Given the description of an element on the screen output the (x, y) to click on. 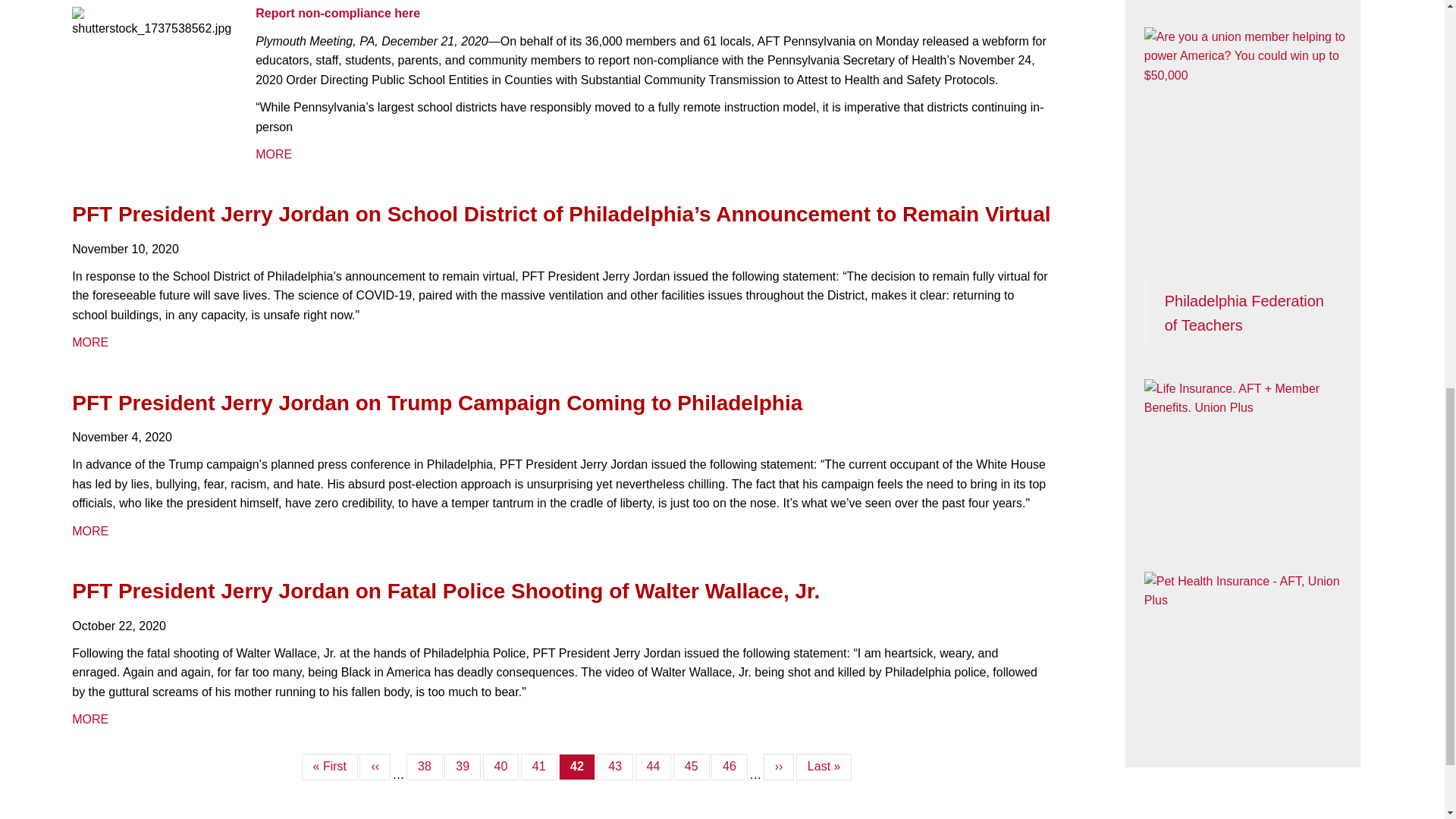
Go to previous page (374, 766)
Report non-compliance here (338, 12)
Go to page 38 (424, 766)
Philadelphia Federation of Teachers (1243, 312)
Go to first page (329, 766)
Go to page 39 (462, 766)
